Given the description of an element on the screen output the (x, y) to click on. 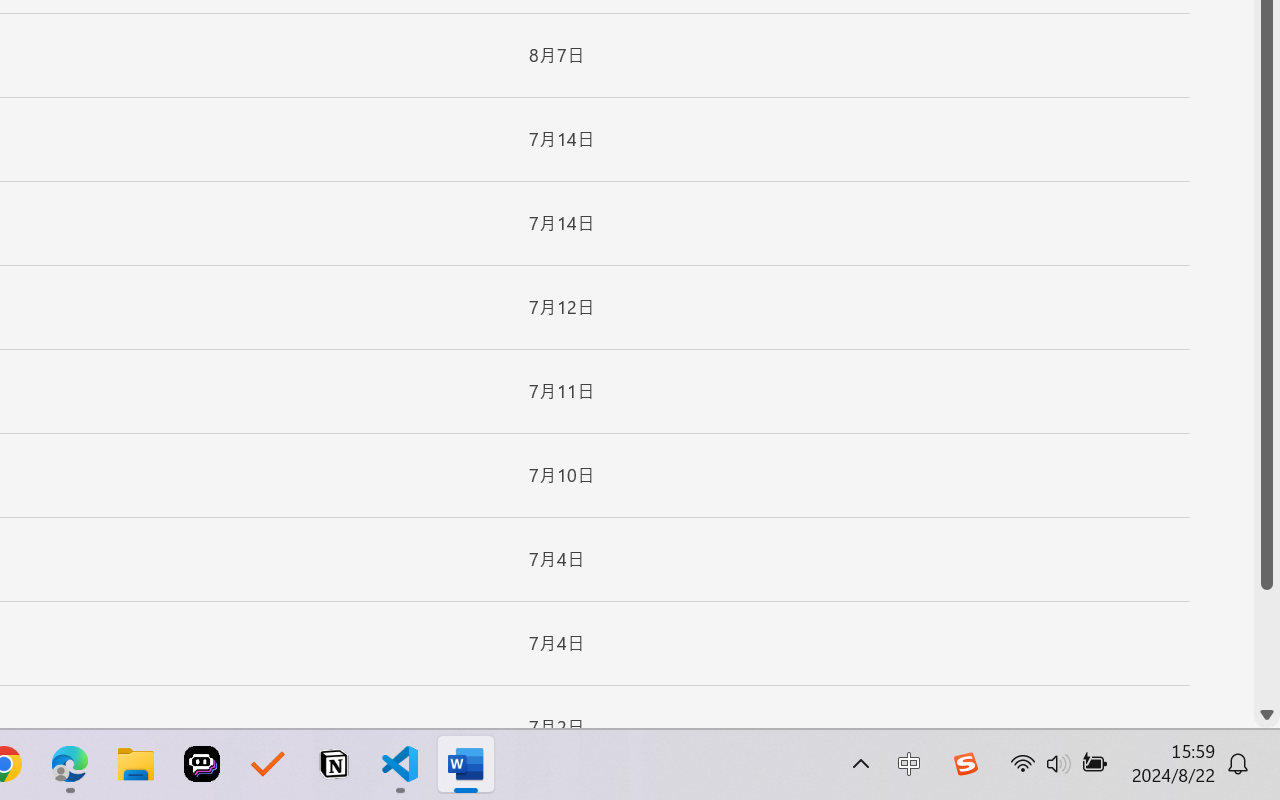
Pin this item to the list (480, 727)
Page down (1267, 646)
Line down (1267, 715)
Class: Image (965, 764)
